Given the description of an element on the screen output the (x, y) to click on. 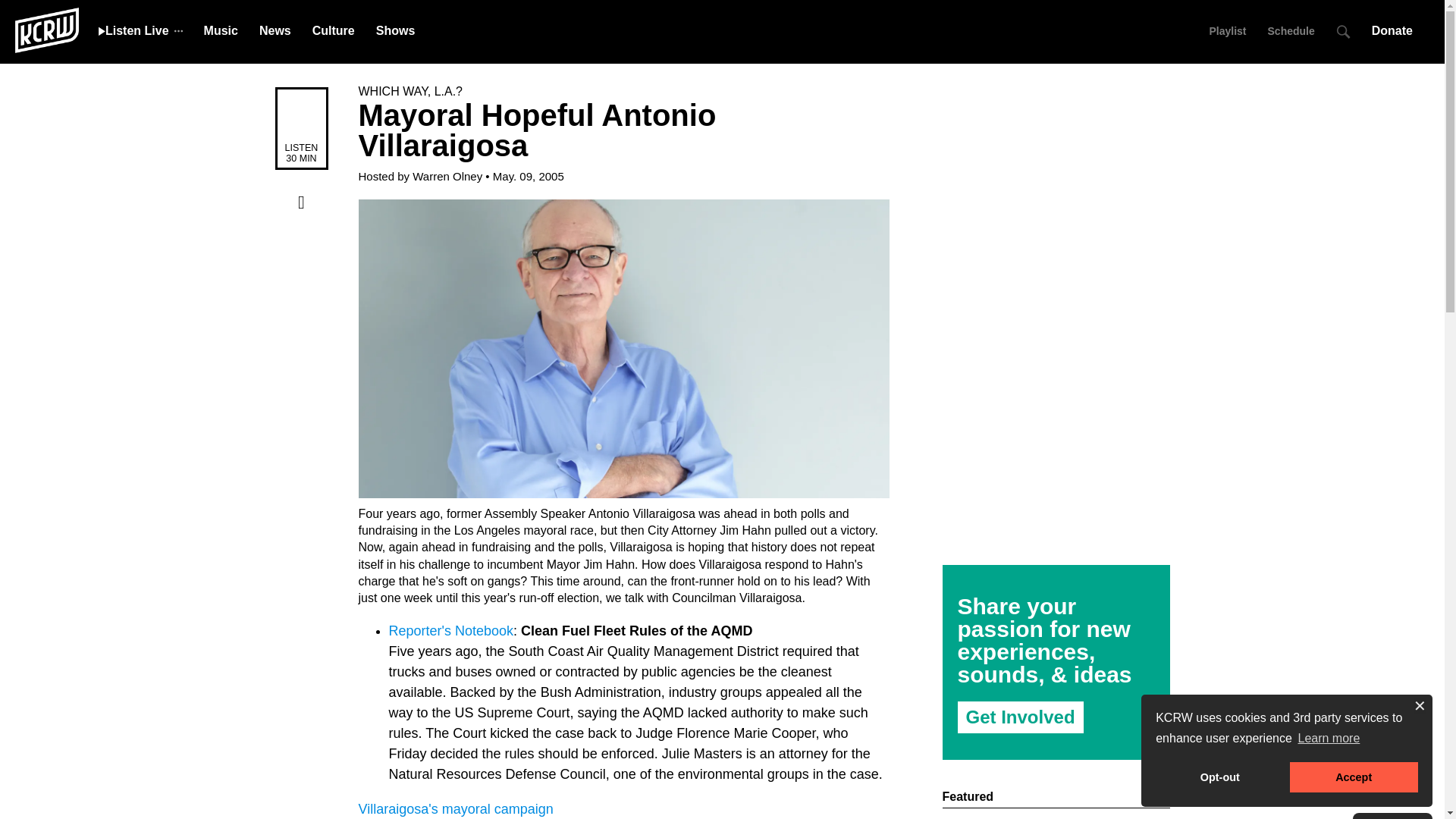
Schedule (1291, 30)
News (275, 30)
Reporter's Notebook (450, 630)
Music (220, 30)
Donate (1397, 30)
Warren Olney (446, 175)
Share via Email (301, 295)
Listen Live (133, 30)
Share on Facebook (301, 202)
KCRW (46, 29)
Shows (394, 30)
Accept (1354, 777)
Culture (334, 30)
Learn more (1328, 738)
Get embed code (301, 264)
